Given the description of an element on the screen output the (x, y) to click on. 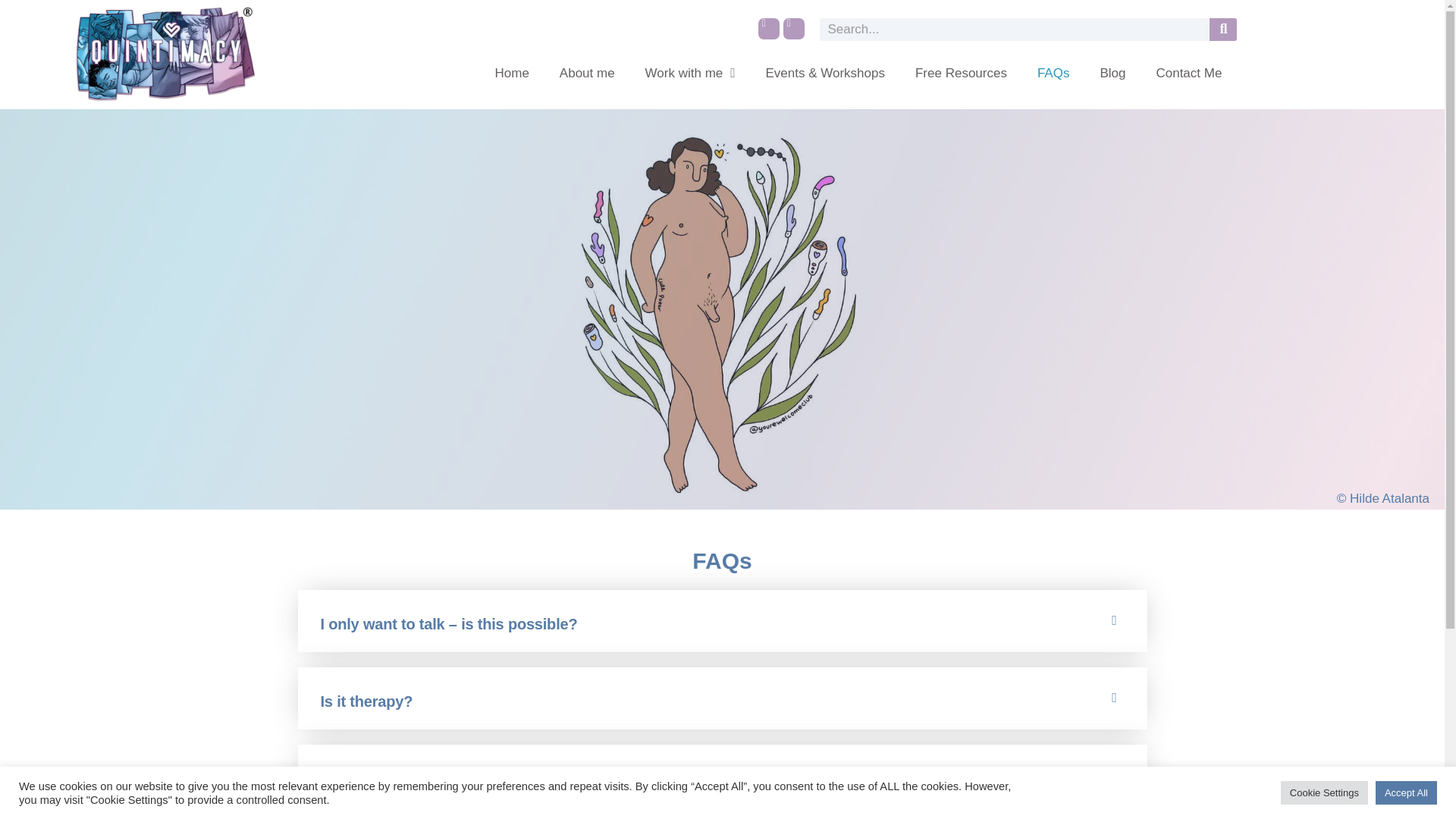
Free Resources (960, 73)
Blog (1112, 73)
Home (511, 73)
Contact Me (1188, 73)
About me (587, 73)
FAQs (1053, 73)
Work with me (690, 73)
